Given the description of an element on the screen output the (x, y) to click on. 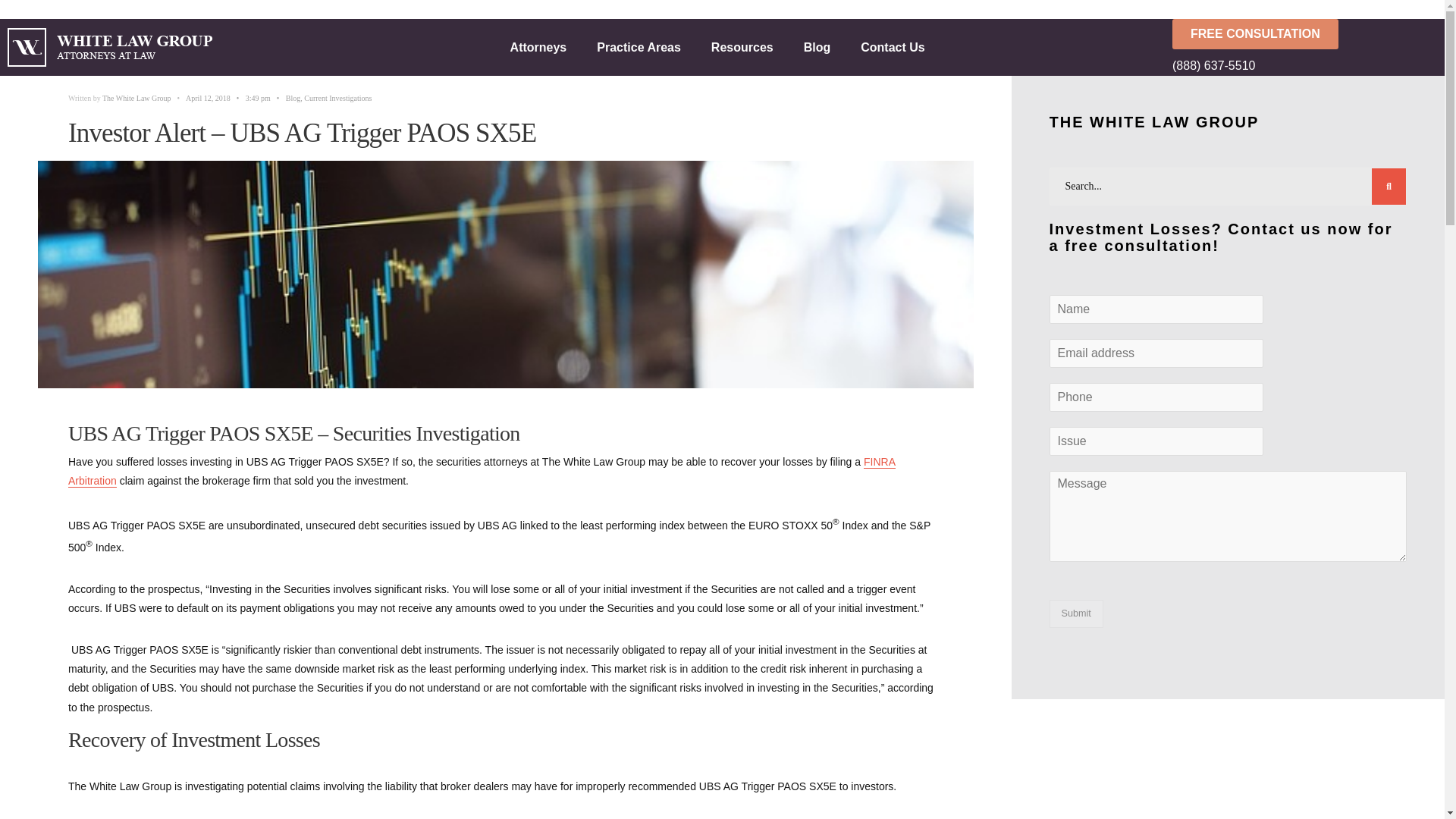
Contact Us (892, 47)
Posts by The White Law Group (136, 98)
Search... (1228, 186)
Blog (817, 47)
Attorneys (538, 47)
Resources (742, 47)
Practice Areas (637, 47)
